Given the description of an element on the screen output the (x, y) to click on. 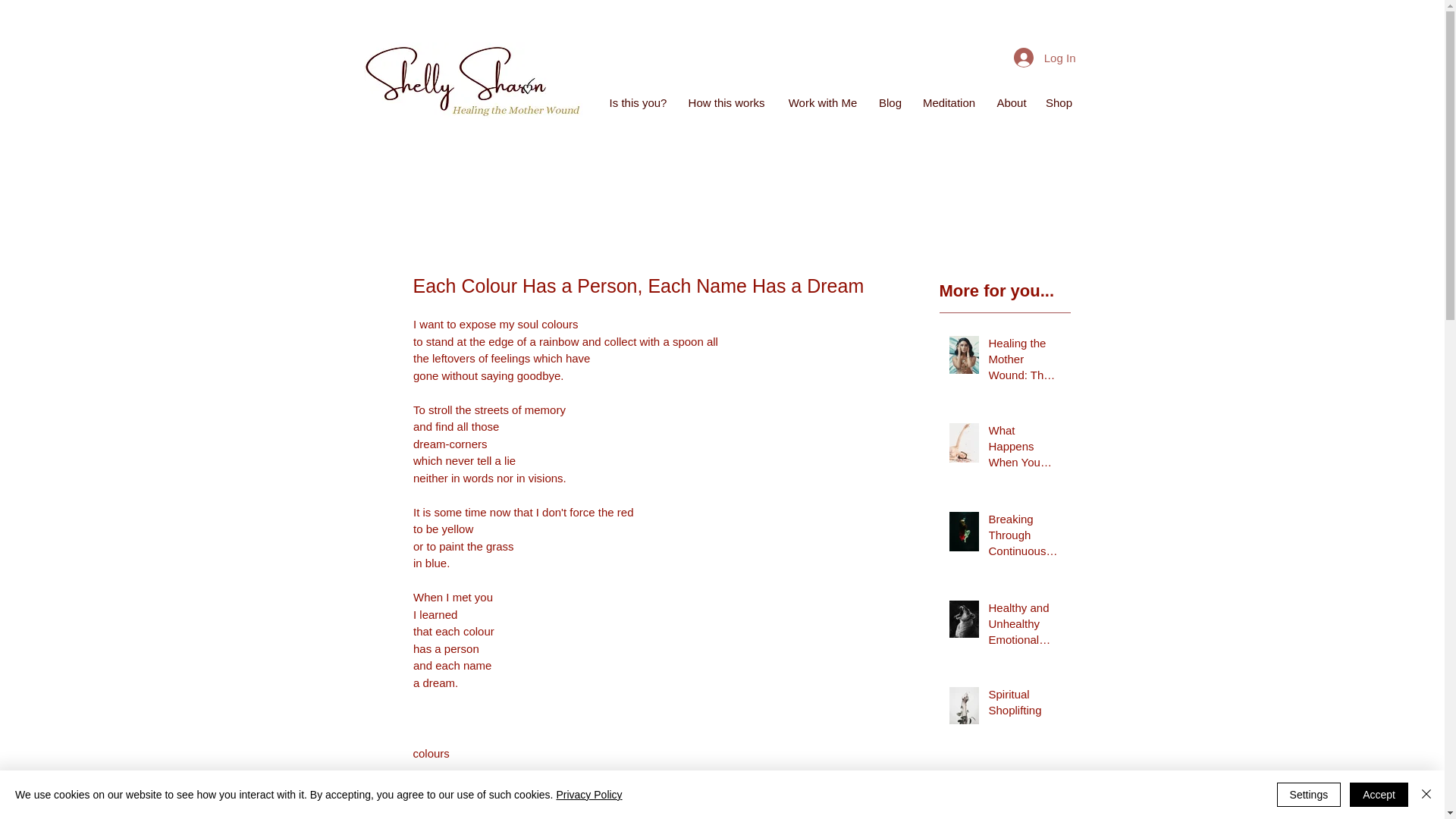
Embedded Content (624, 95)
Spiritual Shoplifting (1024, 704)
Shop (1057, 102)
Breaking Through Continuous Anxiety (1024, 538)
Healing the Mother Wound: The First Steps (1024, 361)
Is this you? (638, 102)
Log In (1044, 57)
Embedded Content (1010, 94)
Blog (890, 102)
How this works (726, 102)
